Given the description of an element on the screen output the (x, y) to click on. 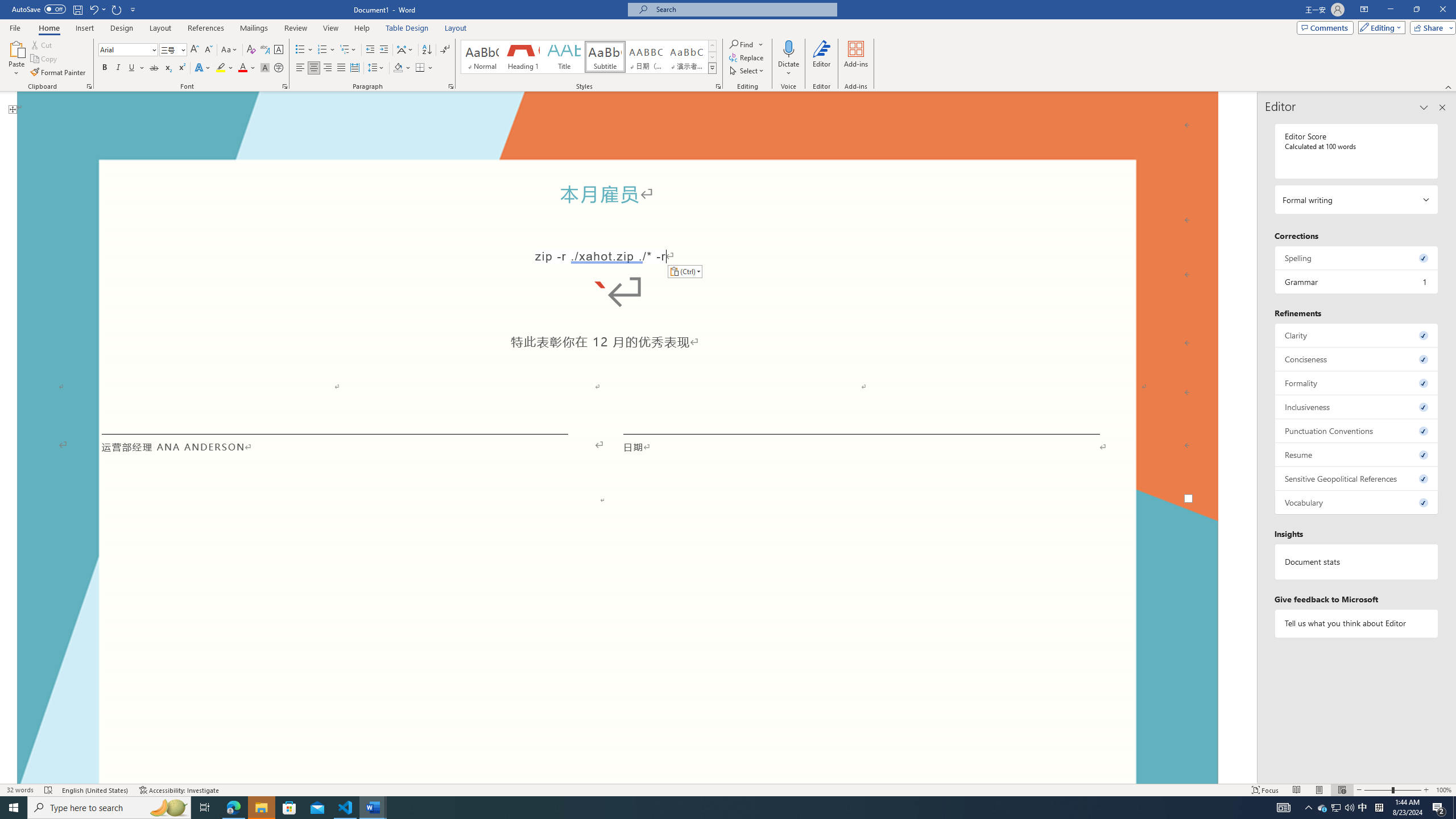
Justify (340, 67)
Office Clipboard... (88, 85)
